Given the description of an element on the screen output the (x, y) to click on. 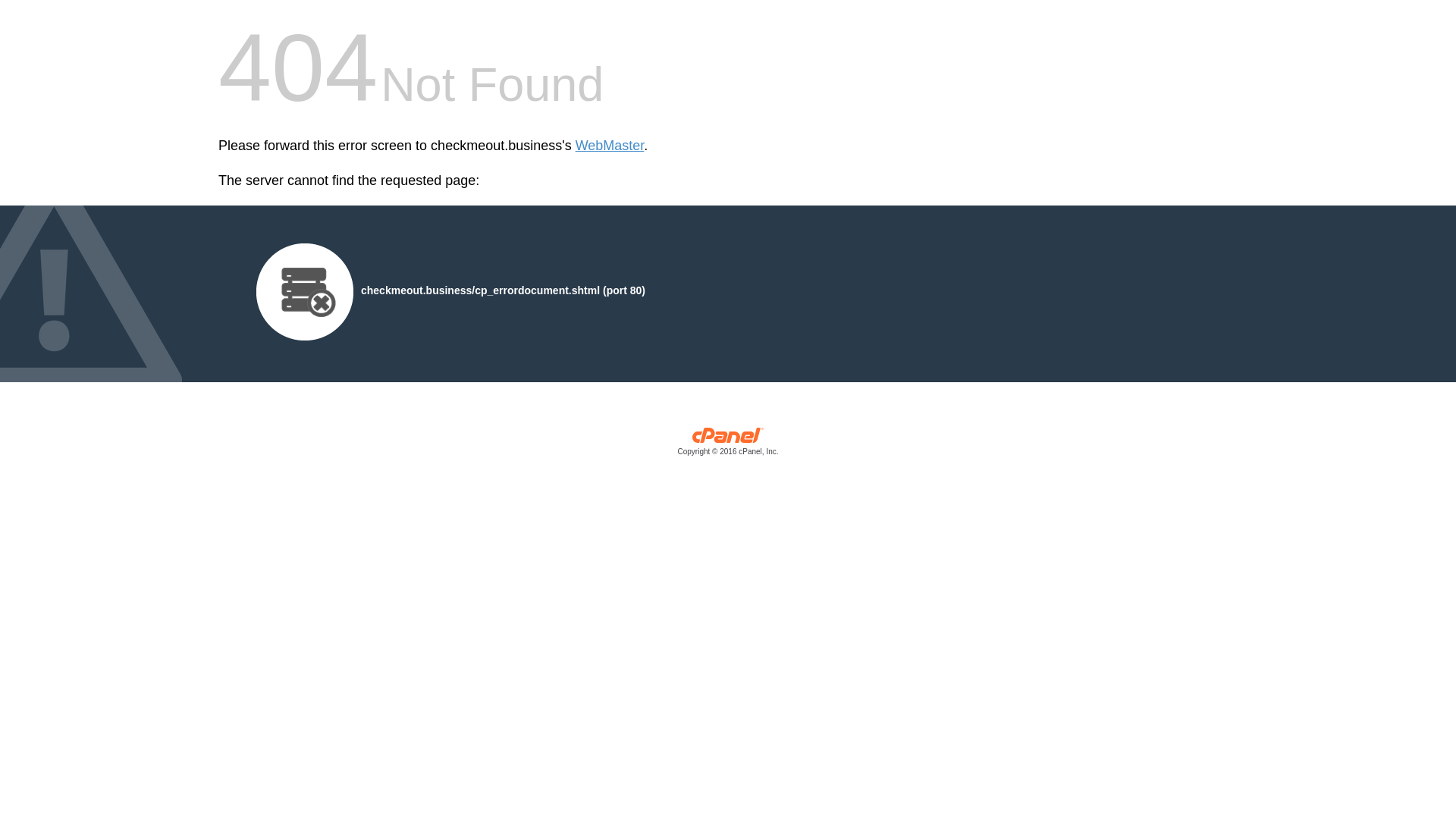
WebMaster Element type: text (609, 145)
